Given the description of an element on the screen output the (x, y) to click on. 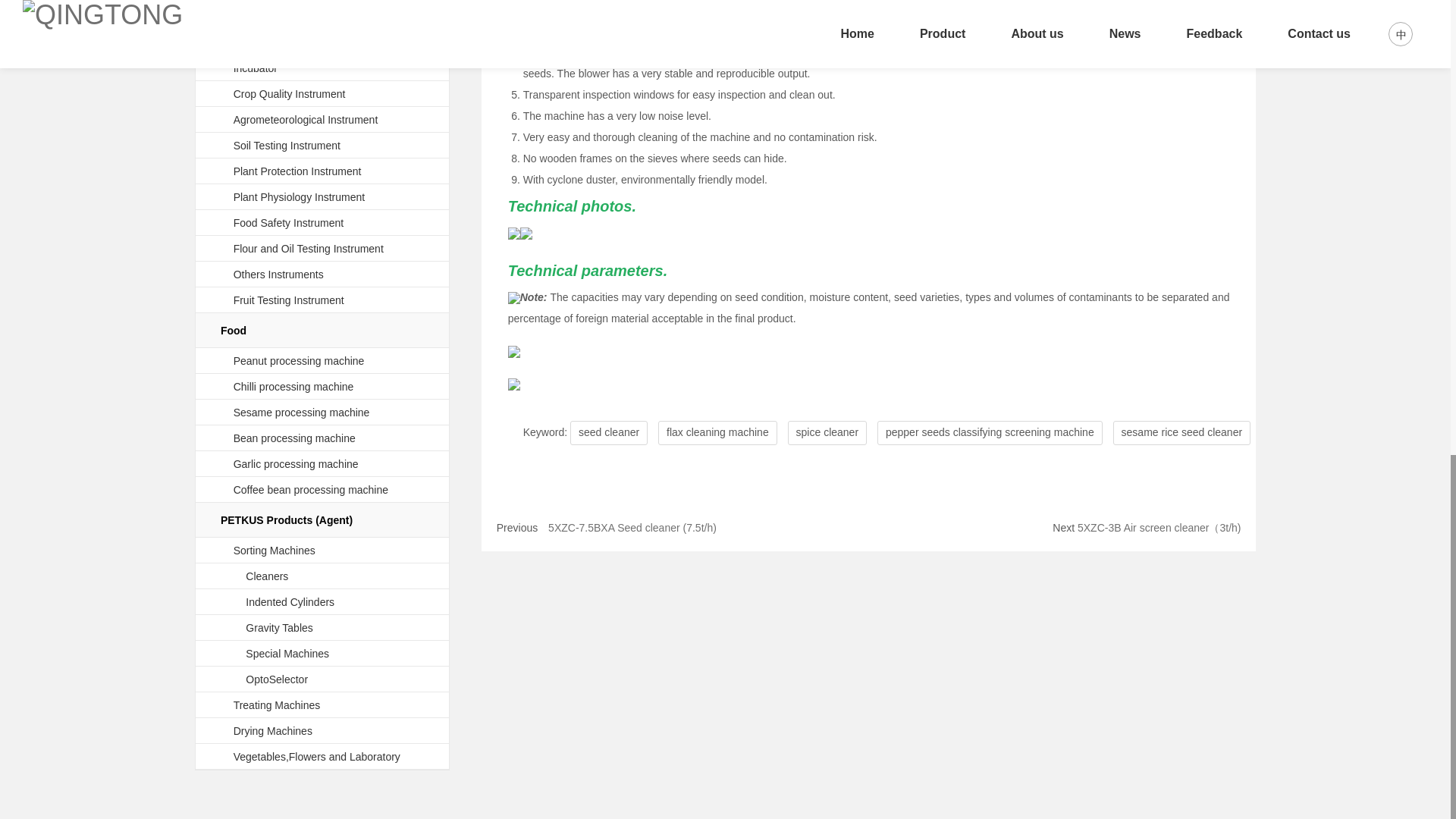
webdesign (302, 720)
Facebook (131, 757)
QINGTONG (241, 646)
Twitter (192, 757)
QINGTONG (1284, 660)
youtube (283, 757)
Tumblr (222, 757)
Linkedin (162, 757)
Pinterest (253, 757)
